Given the description of an element on the screen output the (x, y) to click on. 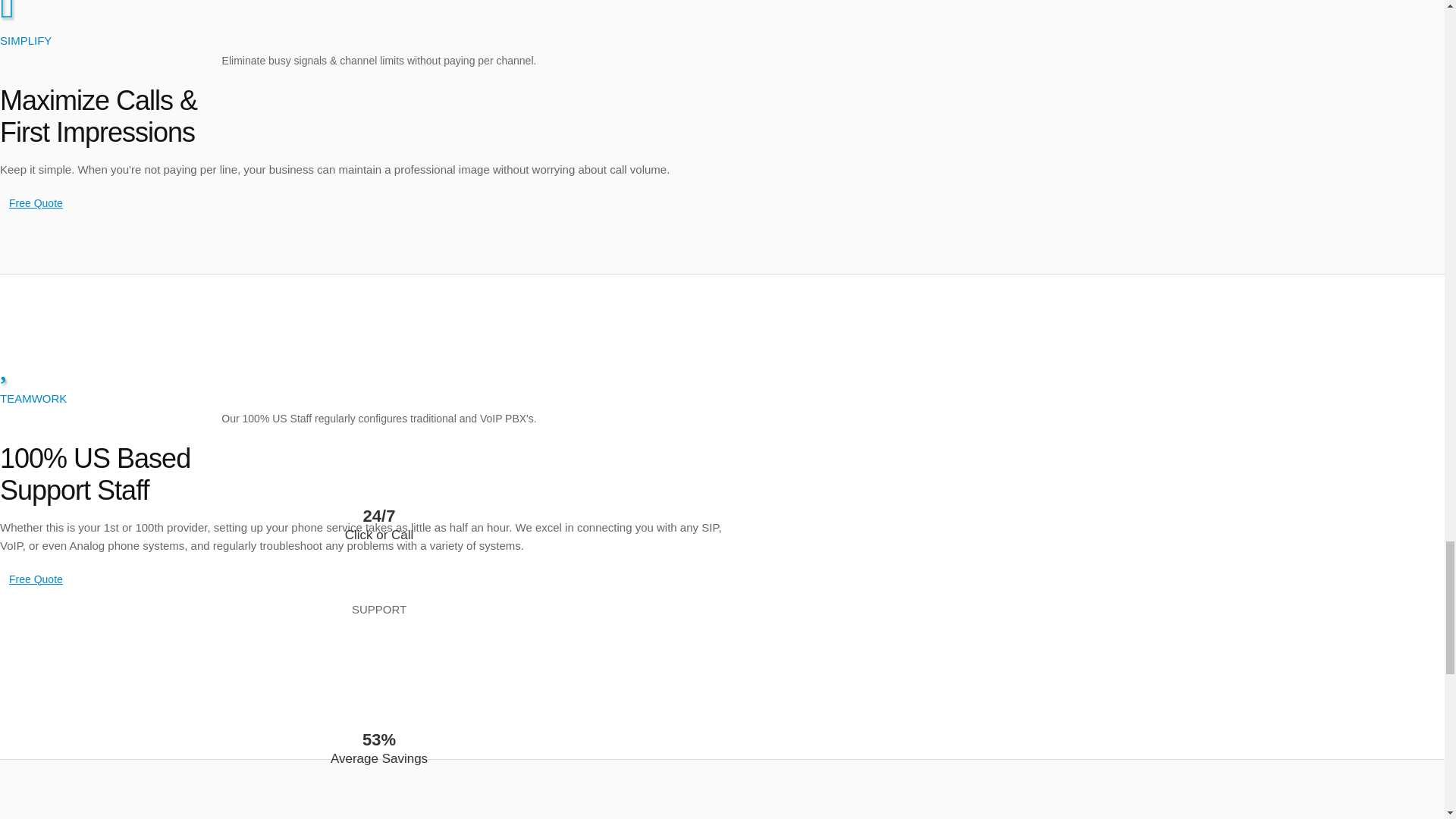
Free Quote (35, 579)
Free Quote (35, 203)
